Given the description of an element on the screen output the (x, y) to click on. 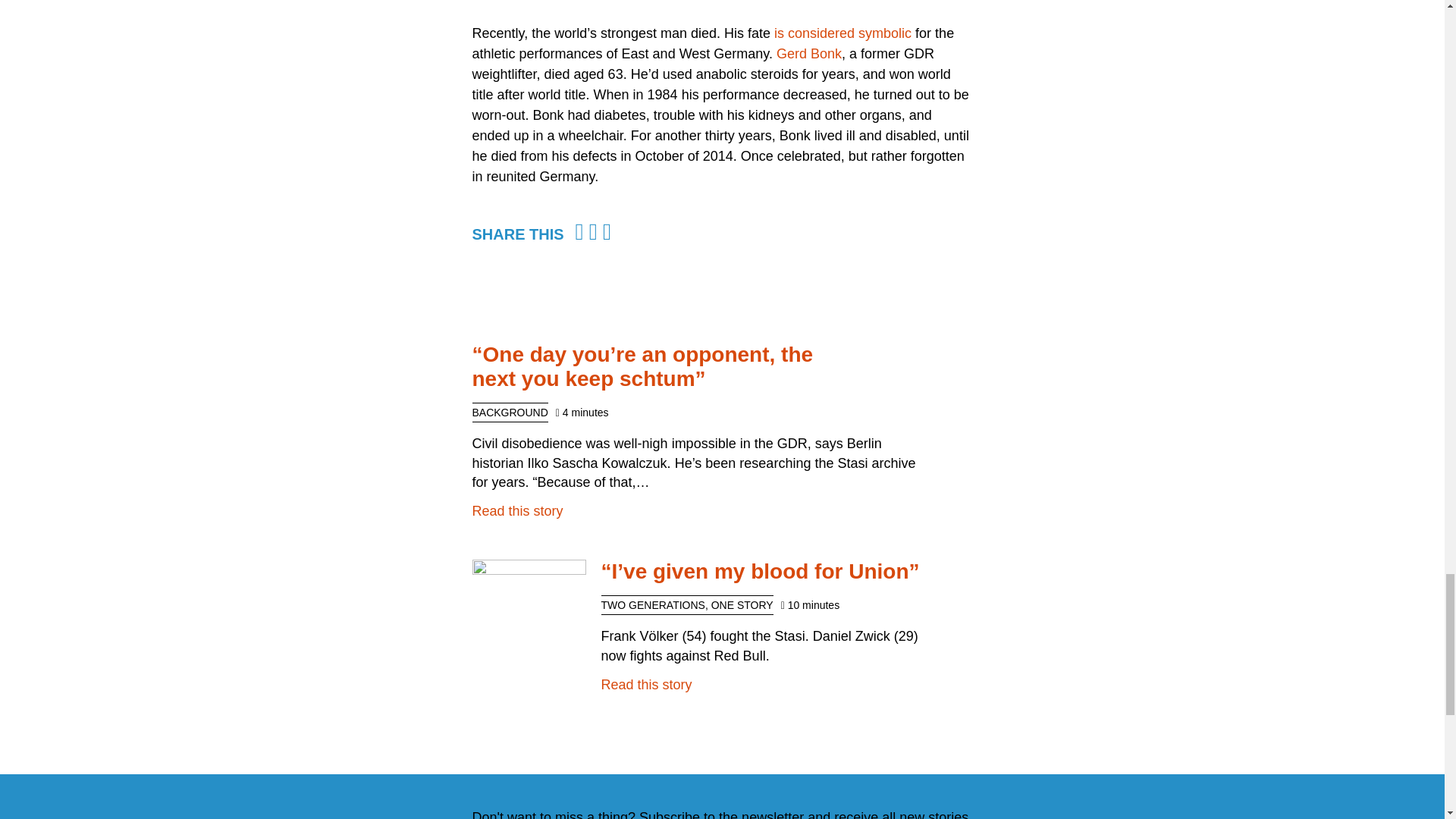
Gerd Bonk (808, 53)
is considered symbolic (842, 32)
Read this story (645, 684)
Read this story (516, 510)
